Given the description of an element on the screen output the (x, y) to click on. 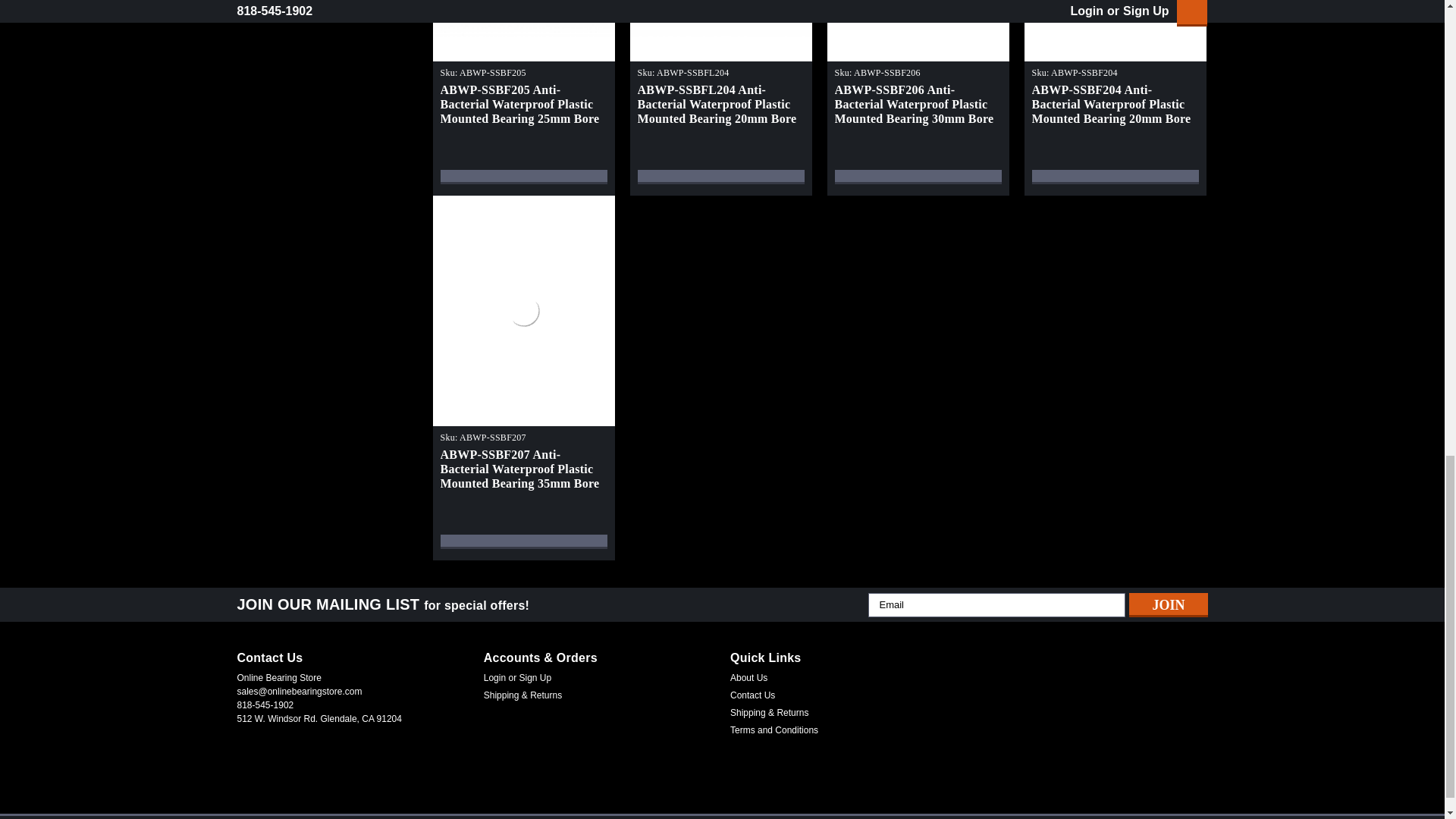
Join (1168, 604)
